Given the description of an element on the screen output the (x, y) to click on. 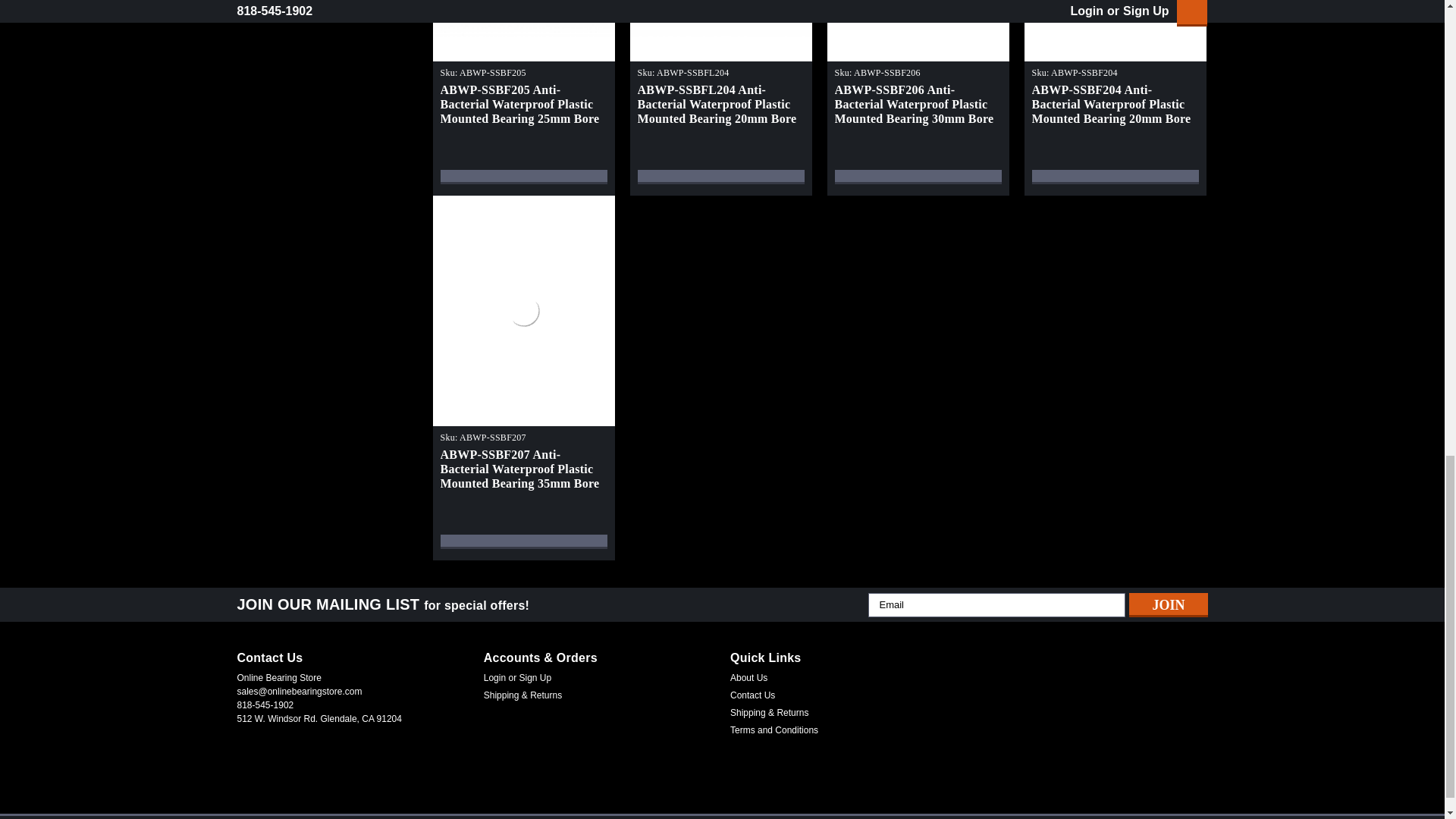
Join (1168, 604)
